Given the description of an element on the screen output the (x, y) to click on. 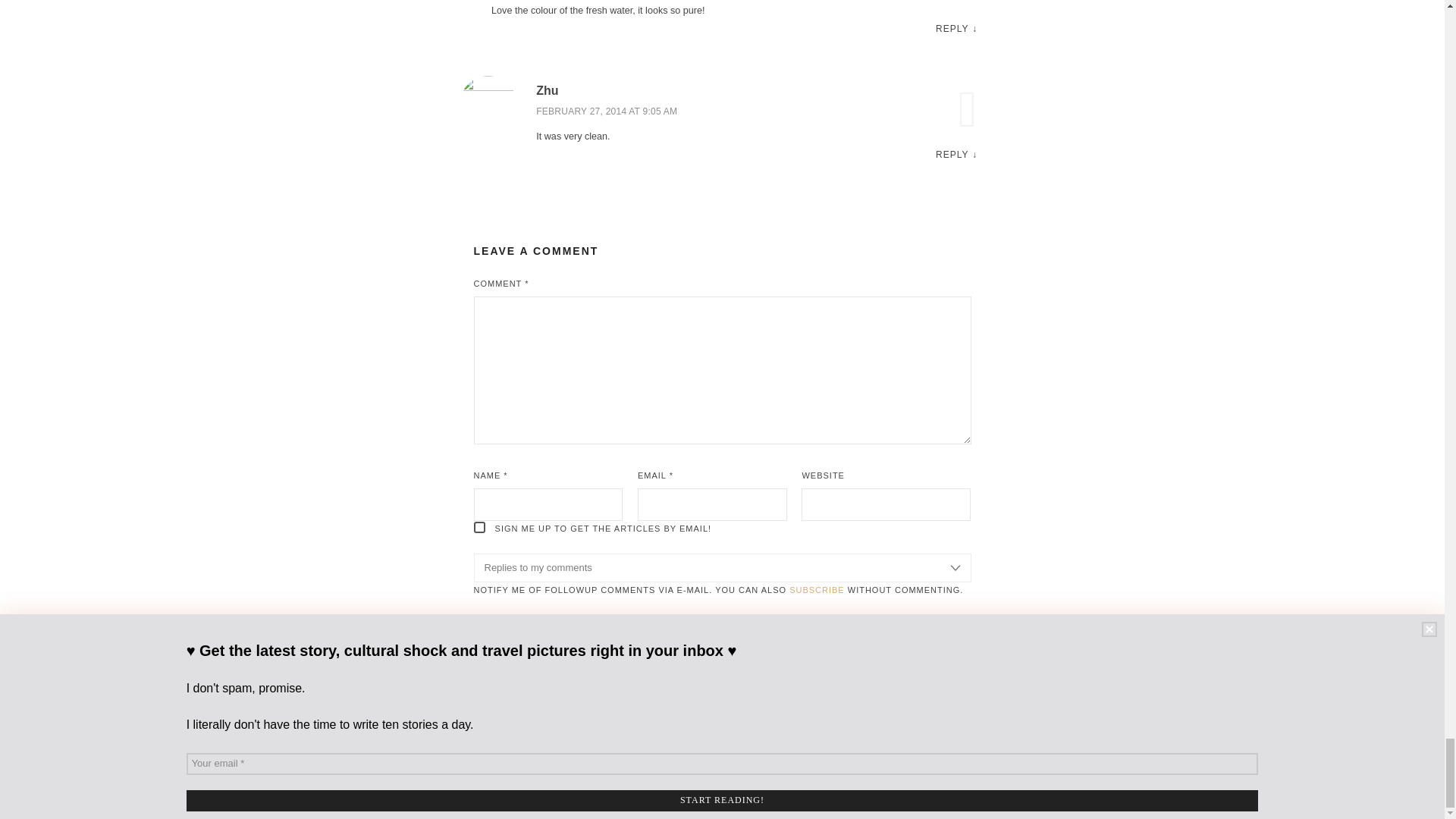
1 (478, 527)
Post Comment (534, 642)
